Given the description of an element on the screen output the (x, y) to click on. 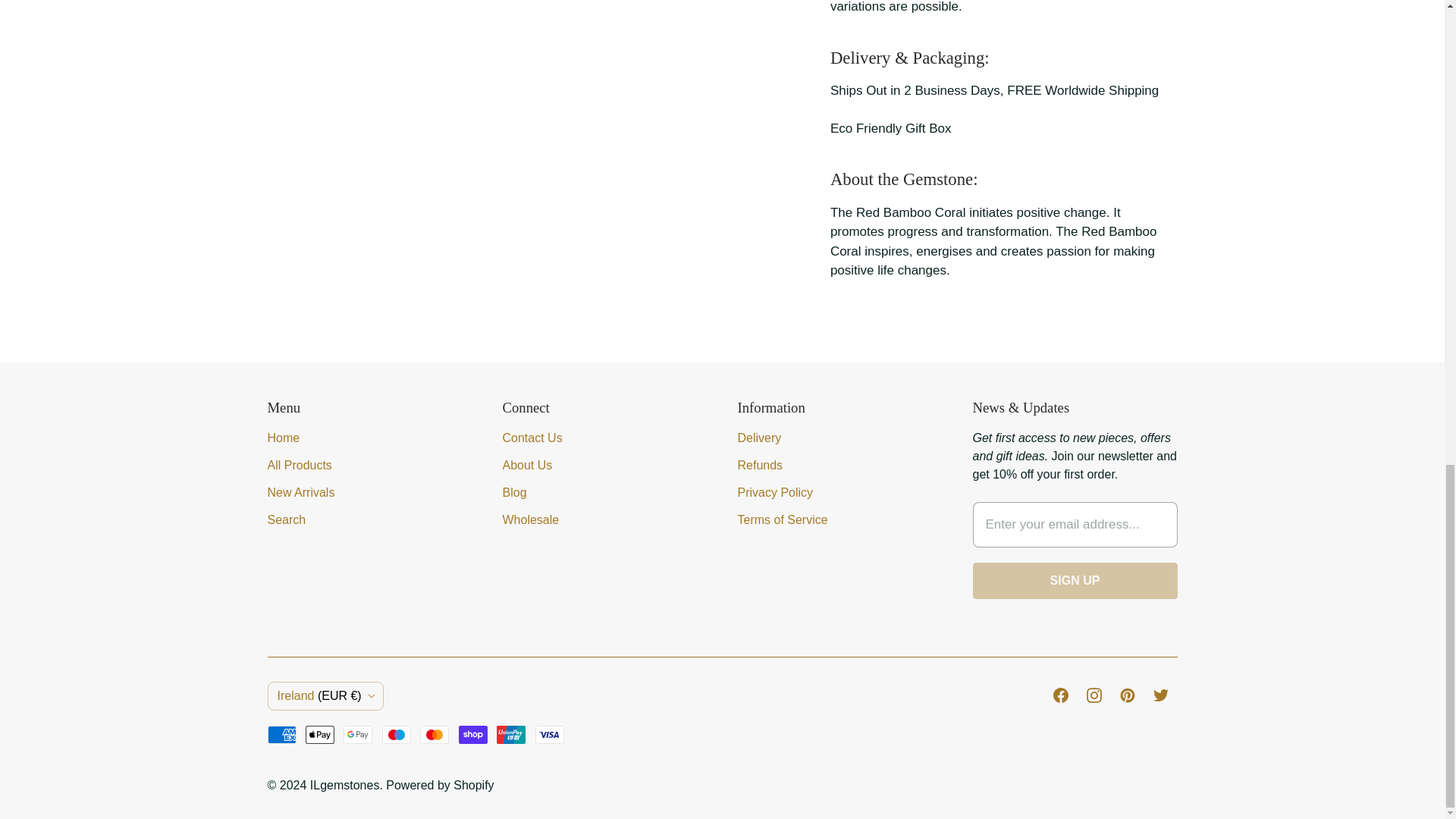
Sign Up (1074, 580)
Union Pay (510, 734)
Shop Pay (472, 734)
American Express (280, 734)
Mastercard (434, 734)
Visa (549, 734)
Apple Pay (319, 734)
Maestro (395, 734)
Google Pay (357, 734)
